Given the description of an element on the screen output the (x, y) to click on. 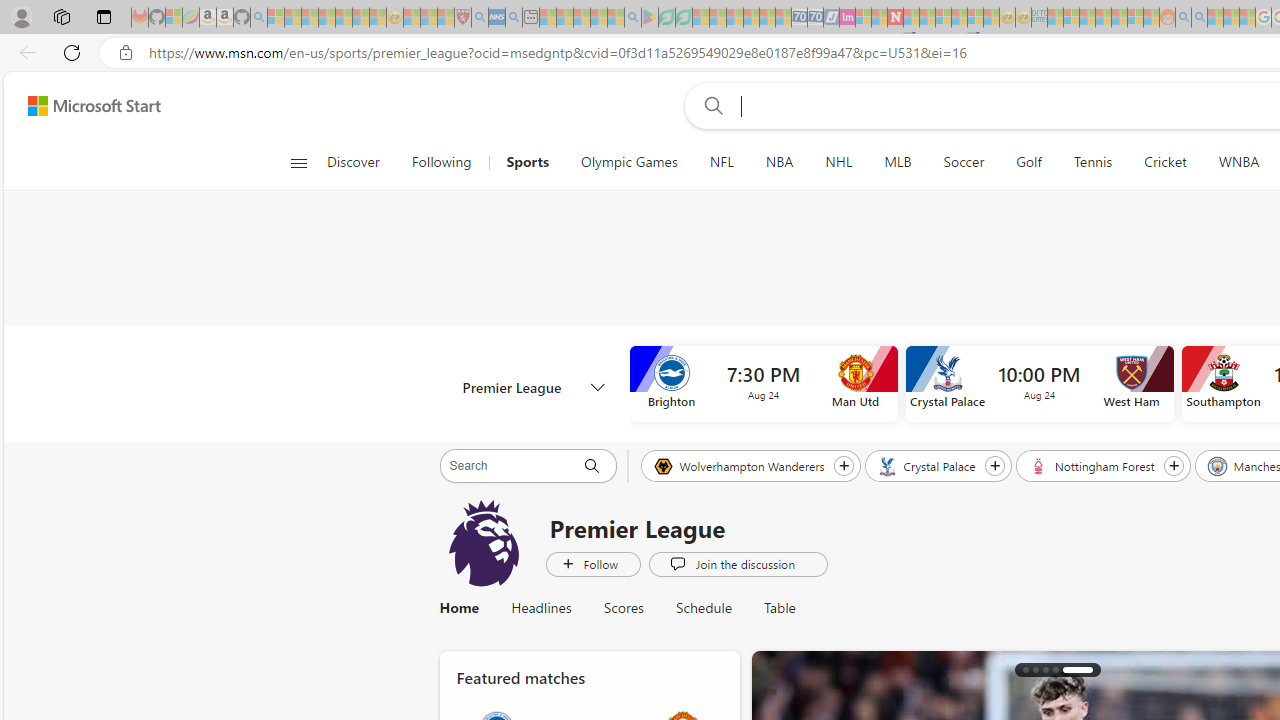
NBA (779, 162)
NBA (779, 162)
Wolverhampton Wanderers (740, 465)
Follow Premier League 2024-2025 (593, 563)
